Given the description of an element on the screen output the (x, y) to click on. 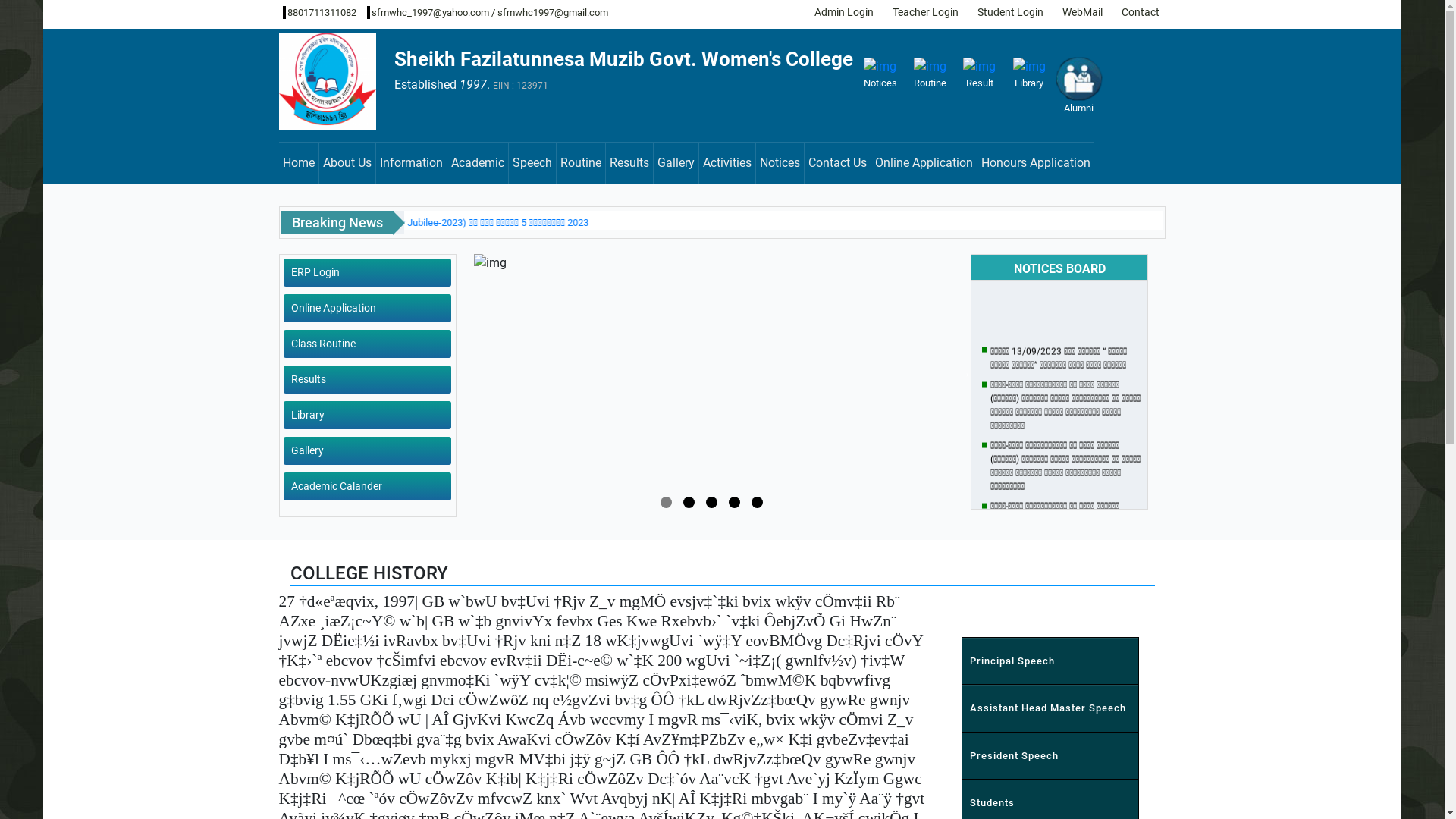
Next Element type: text (964, 373)
3 Element type: text (711, 502)
Routine Element type: text (929, 74)
Student Login Element type: text (1009, 11)
Library Element type: text (366, 415)
President Speech Element type: text (1050, 755)
Honours Application Element type: text (1034, 162)
Gallery Element type: text (676, 162)
Results Element type: text (628, 162)
Teacher Login Element type: text (924, 11)
1 Element type: text (665, 502)
Online Application Element type: text (366, 308)
5 Element type: text (756, 502)
ERP Login Element type: text (366, 272)
8801711311082 Element type: text (318, 12)
Online Application Element type: text (923, 162)
Notices Element type: text (879, 74)
Result Element type: text (979, 74)
Speech Element type: text (531, 162)
Sheikh Fazilatunnesa Muzib Govt. Women'S College Element type: text (624, 59)
Class Routine Element type: text (366, 343)
Contact Us Element type: text (836, 162)
Contact Element type: text (1139, 11)
Principal Speech Element type: text (1050, 660)
Academic Calander Element type: text (366, 486)
Results Element type: text (366, 379)
2 Element type: text (688, 502)
Academic Element type: text (477, 162)
Notices Element type: text (779, 162)
Routine Element type: text (580, 162)
Library Element type: text (1029, 74)
Previous Element type: text (462, 373)
About Us Element type: text (346, 162)
Home Element type: text (299, 162)
Assistant Head Master Speech Element type: text (1050, 707)
Admin Login Element type: text (841, 11)
Information Element type: text (411, 162)
sfmwhc_1997@yahoo.com / sfmwhc1997@gmail.com Element type: text (487, 12)
4 Element type: text (734, 502)
Gallery Element type: text (366, 450)
WebMail Element type: text (1081, 11)
Activities Element type: text (727, 162)
Alumni Element type: text (1078, 92)
